Given the description of an element on the screen output the (x, y) to click on. 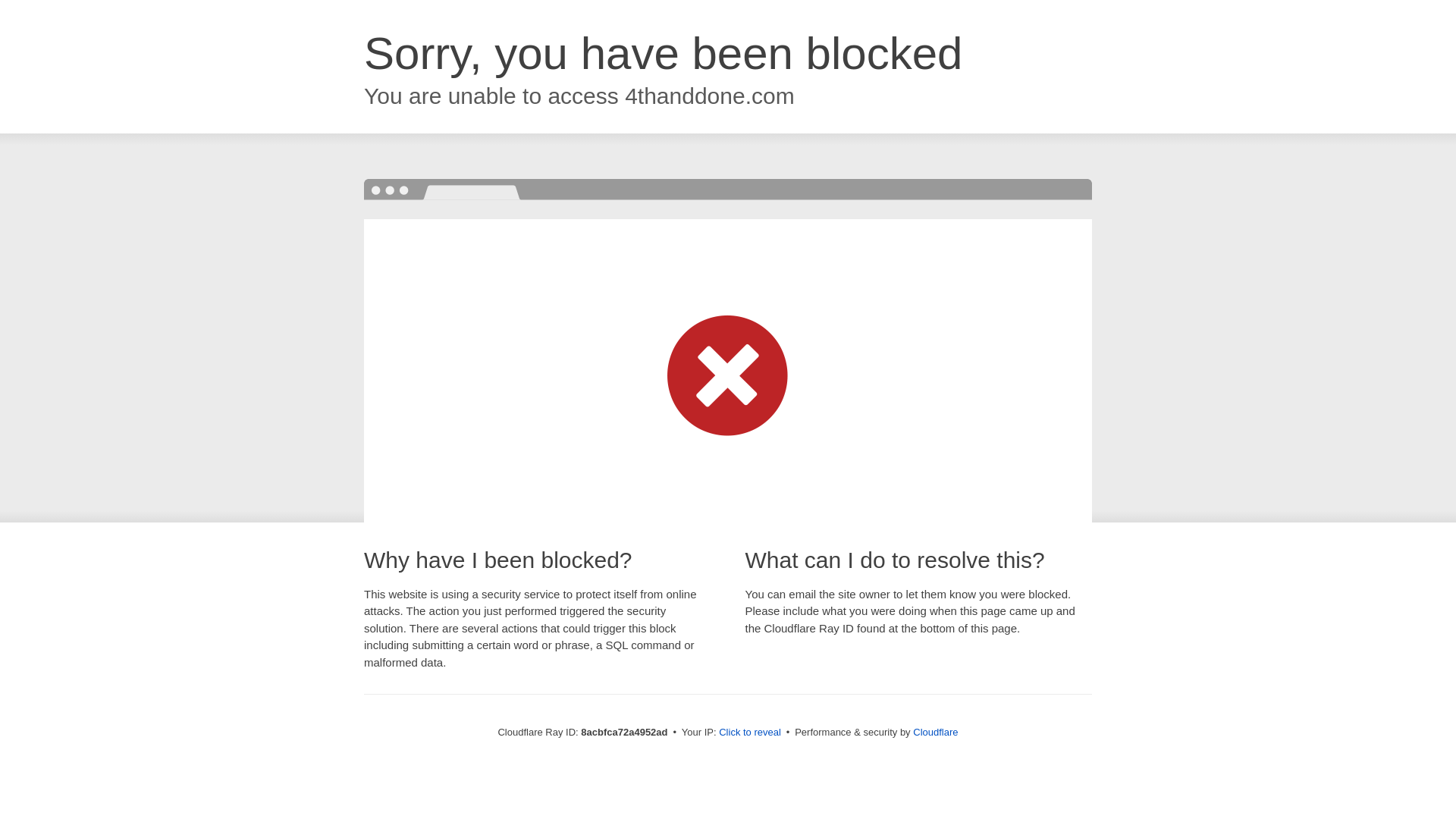
Click to reveal (749, 732)
Cloudflare (935, 731)
